Given the description of an element on the screen output the (x, y) to click on. 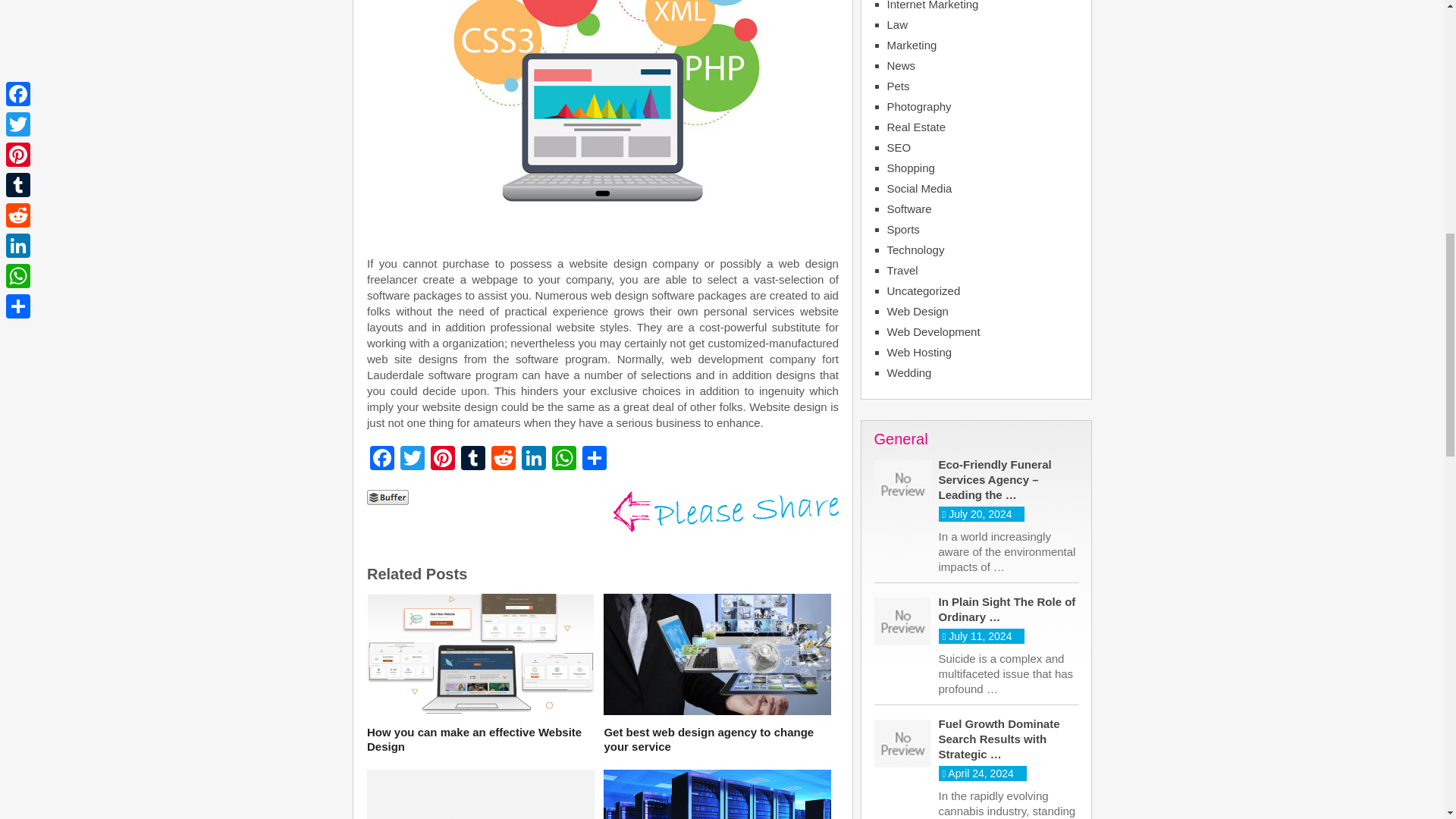
Facebook (381, 459)
How you can make an effective Website Design (480, 739)
Pinterest (443, 459)
How you can make an effective Website Design (480, 656)
Tumblr (472, 459)
Tumblr (472, 459)
Twitter (412, 459)
Facebook (381, 459)
LinkedIn (533, 459)
Reddit (502, 459)
